Given the description of an element on the screen output the (x, y) to click on. 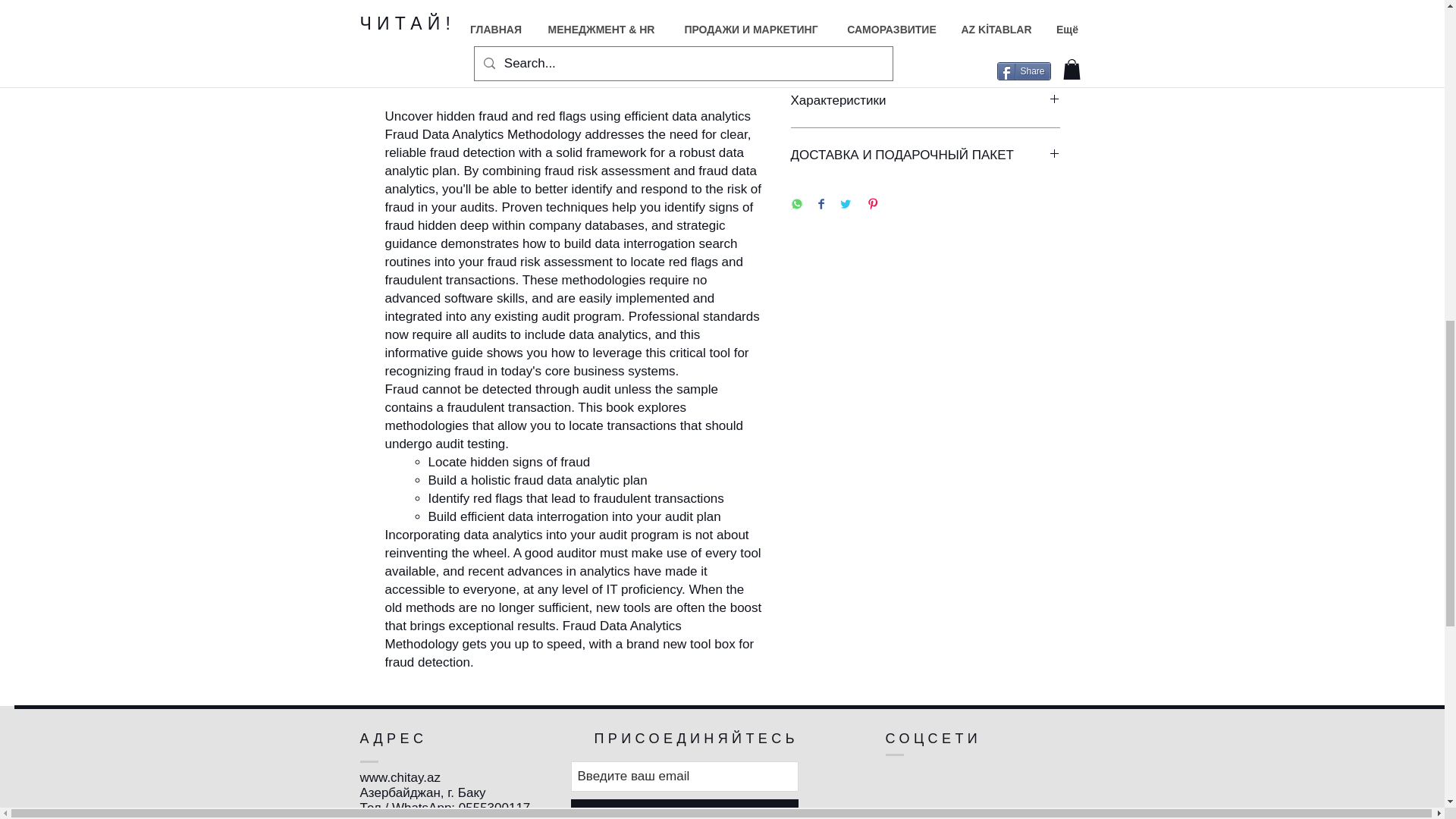
www.chitay.az (399, 777)
